Given the description of an element on the screen output the (x, y) to click on. 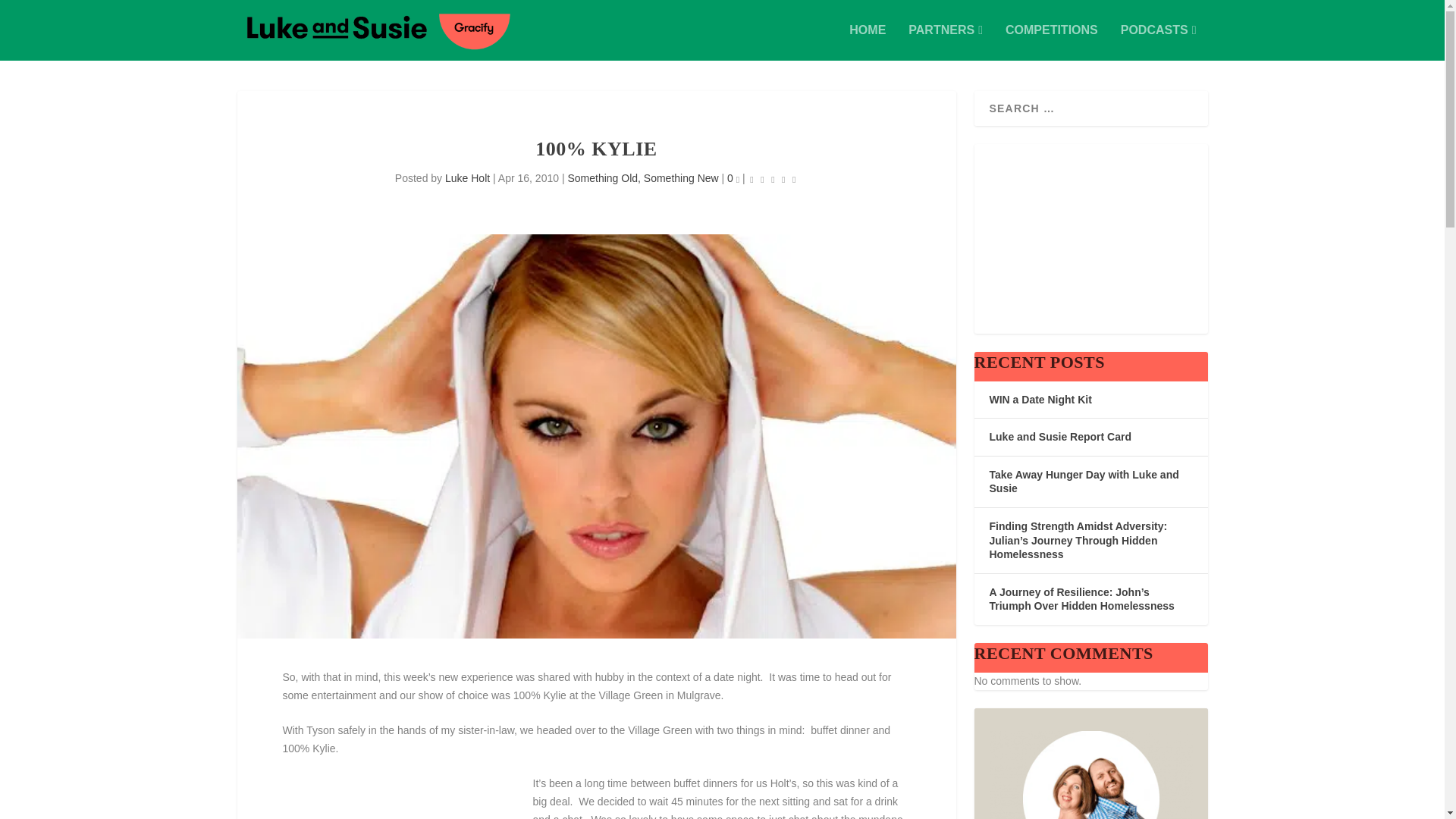
HOME (866, 42)
0 (732, 177)
COMPETITIONS (1051, 42)
Rating: 0.00 (772, 179)
PODCASTS (1158, 42)
Posts by Luke Holt (467, 177)
Luke Holt (467, 177)
PARTNERS (945, 42)
Something Old, Something New (642, 177)
